Given the description of an element on the screen output the (x, y) to click on. 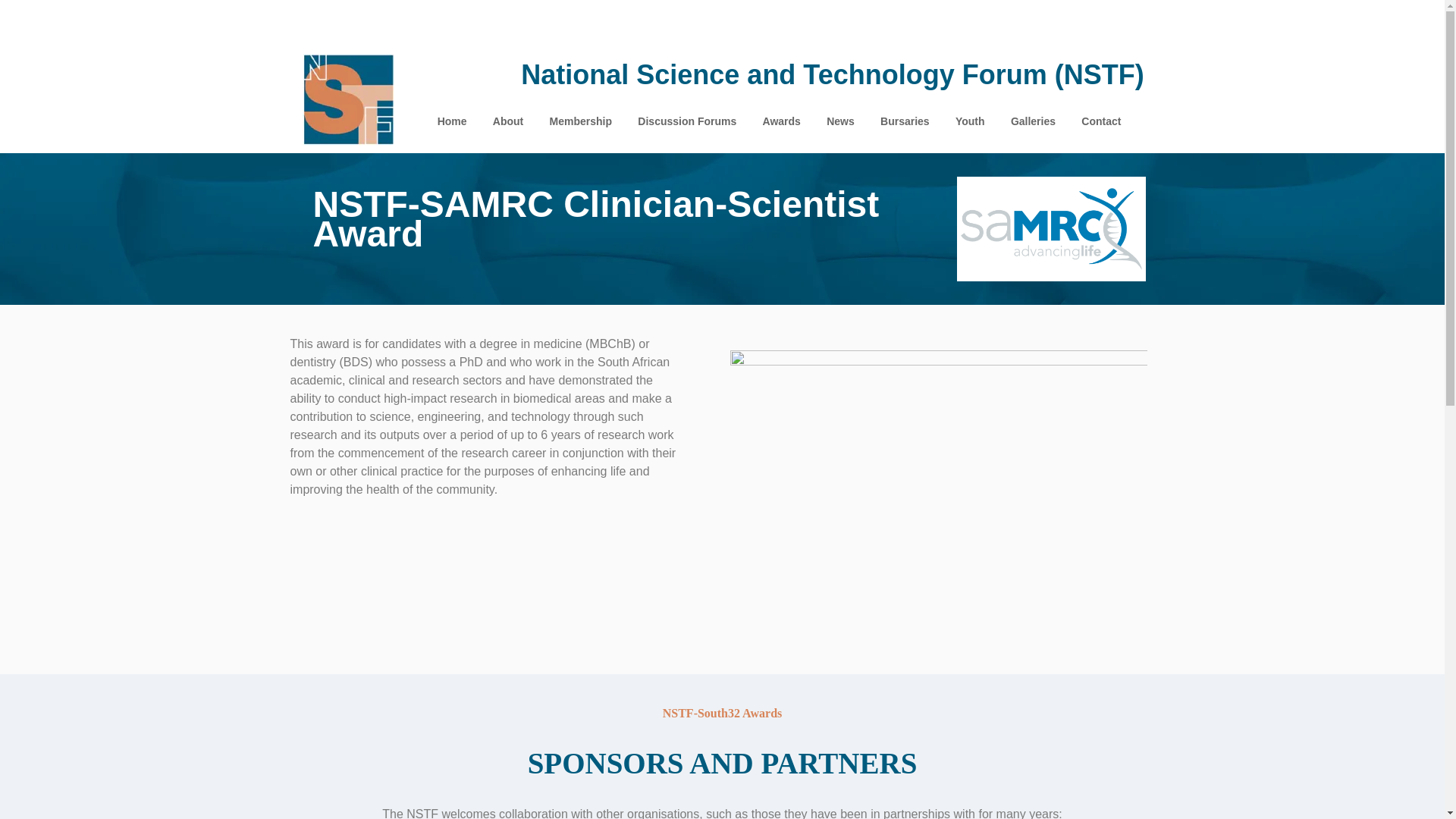
logo-footer (348, 99)
Membership (579, 121)
Awards (781, 121)
Discussion Forums (686, 121)
Home (451, 121)
About (508, 121)
